Given the description of an element on the screen output the (x, y) to click on. 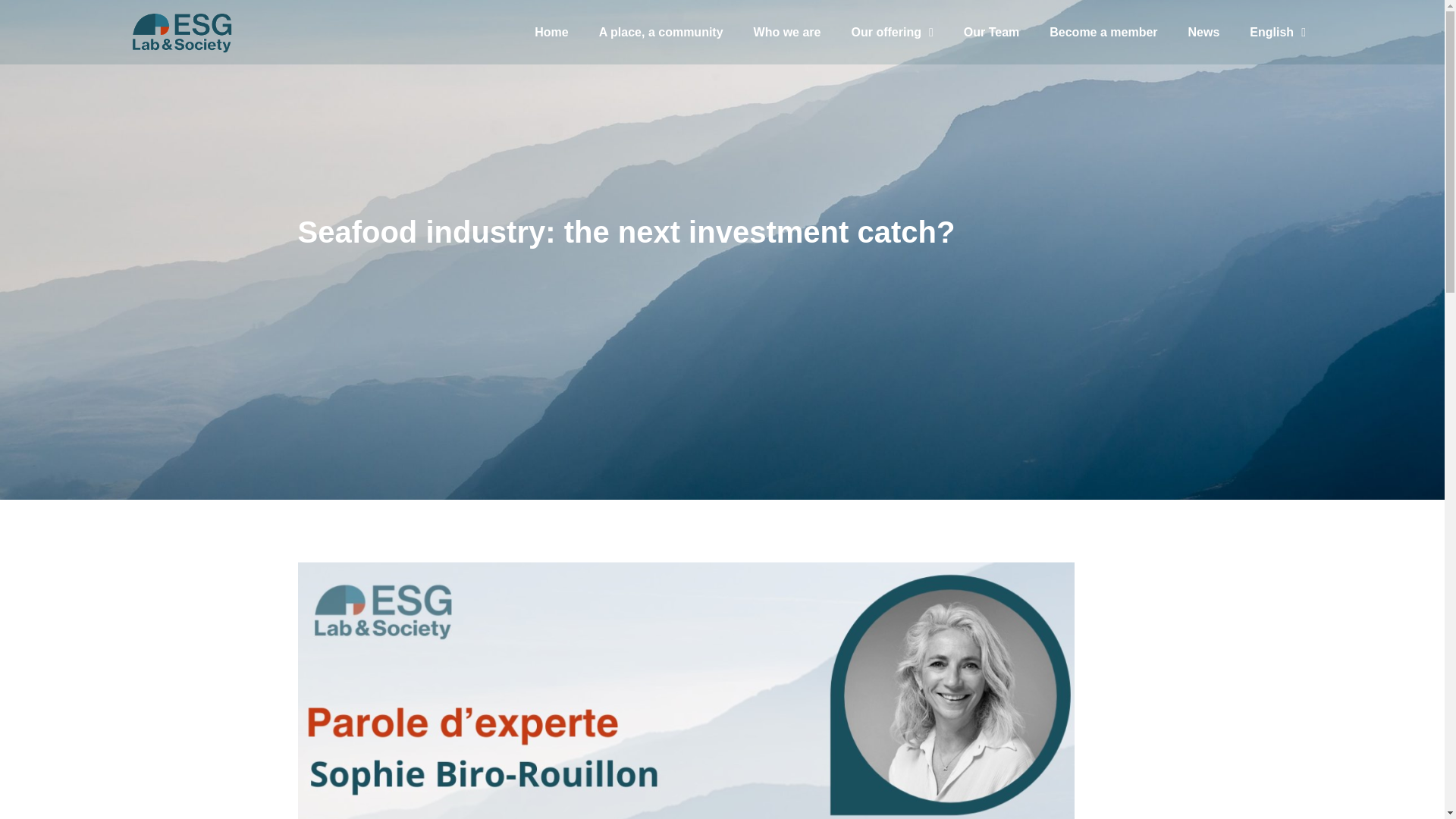
Home (551, 32)
Our Team (992, 32)
Become a member (1102, 32)
Who we are (786, 32)
A place, a community (660, 32)
Our offering (891, 32)
News (1203, 32)
English (1277, 32)
